Given the description of an element on the screen output the (x, y) to click on. 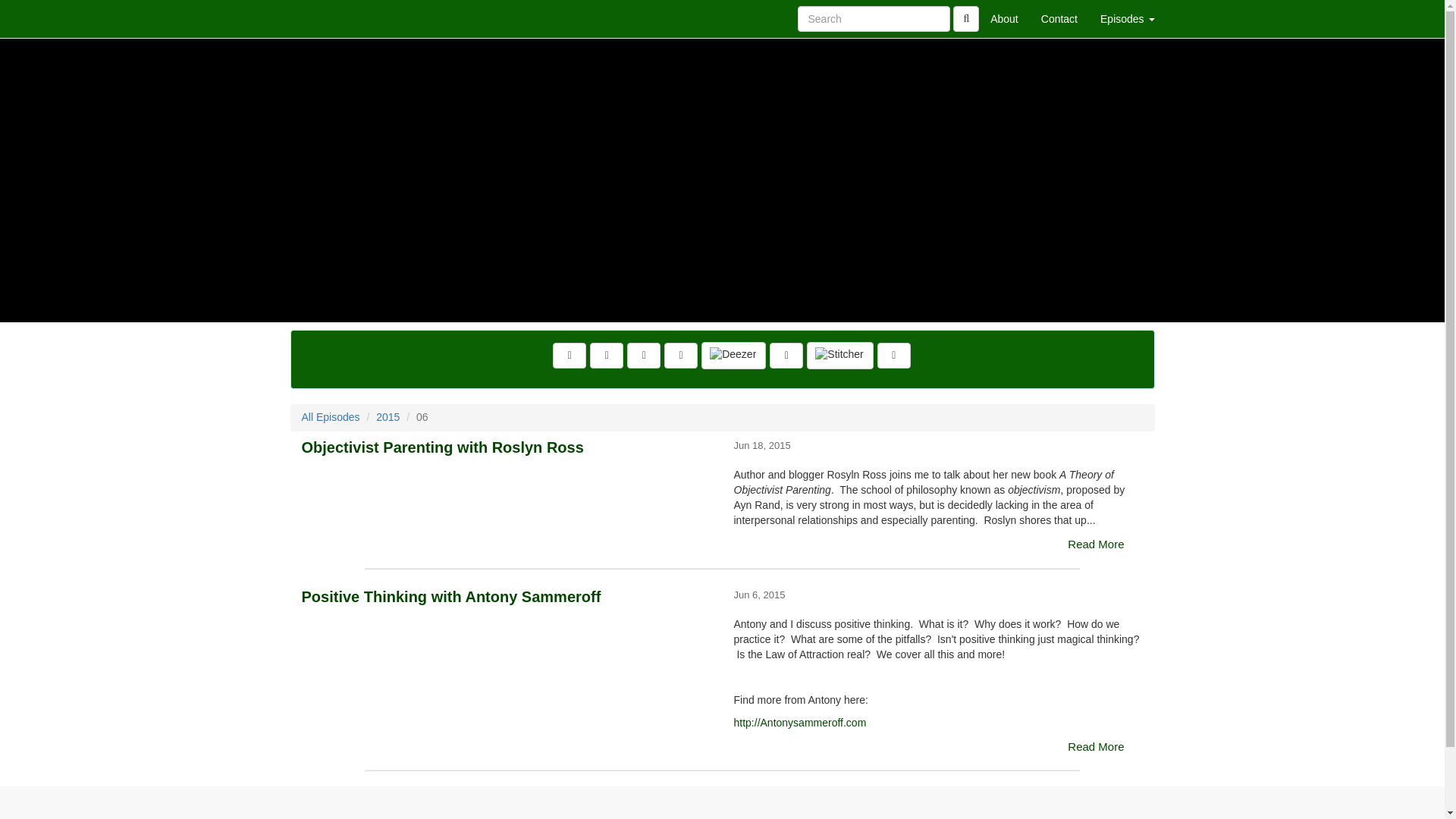
Go To YouTube Channel (894, 355)
Episodes (1127, 18)
About (1003, 18)
Listen on Deezer (733, 355)
Visit Us on Facebook (569, 355)
Subscribe to RSS Feed (680, 355)
Listen on Apple Podcasts (786, 355)
Home Page (320, 18)
Visit Us on Twitter (606, 355)
Positive Thinking with Antony Sammeroff (506, 643)
